Given the description of an element on the screen output the (x, y) to click on. 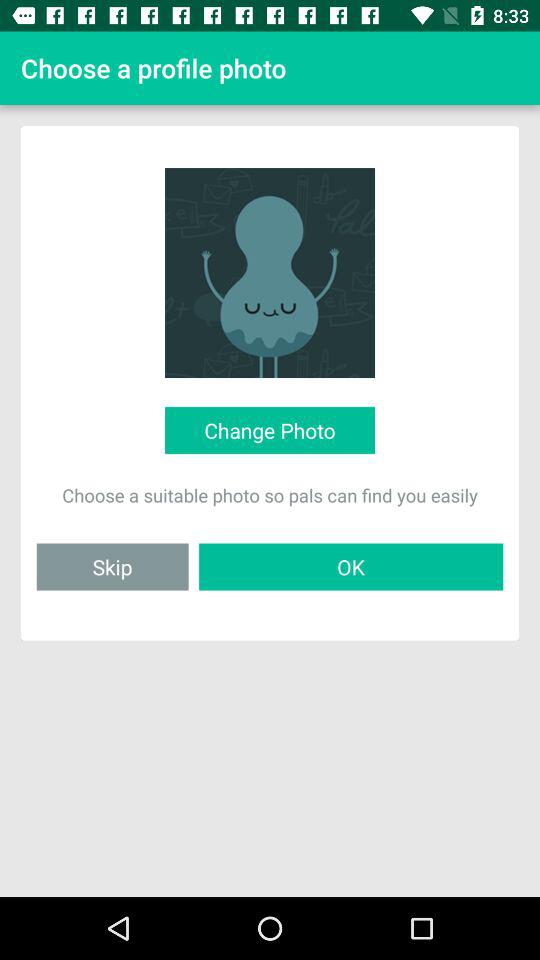
choose the icon on the left (112, 566)
